Given the description of an element on the screen output the (x, y) to click on. 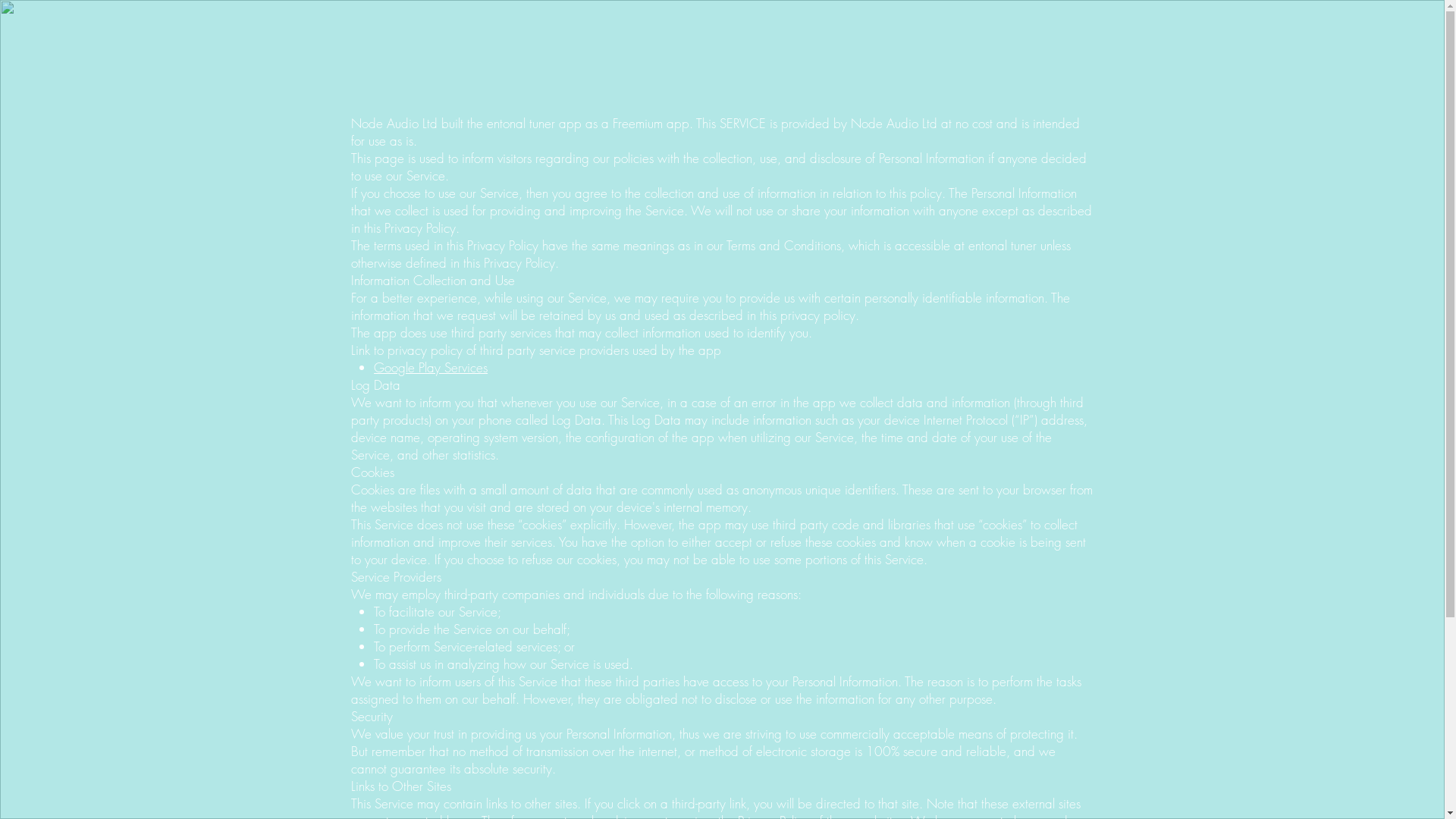
Google Play Services Element type: text (430, 367)
